Given the description of an element on the screen output the (x, y) to click on. 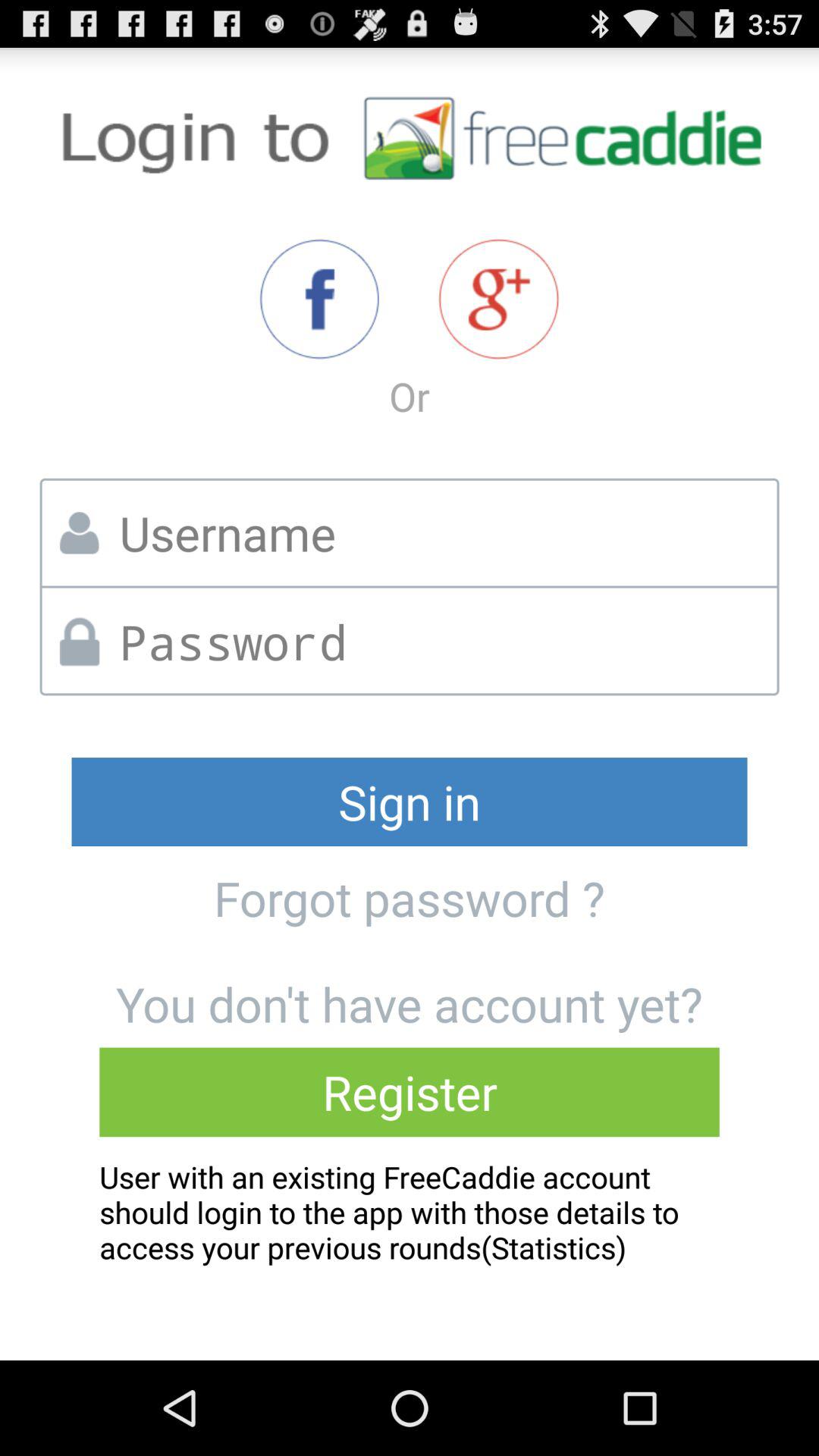
select icon below the sign in app (409, 897)
